Given the description of an element on the screen output the (x, y) to click on. 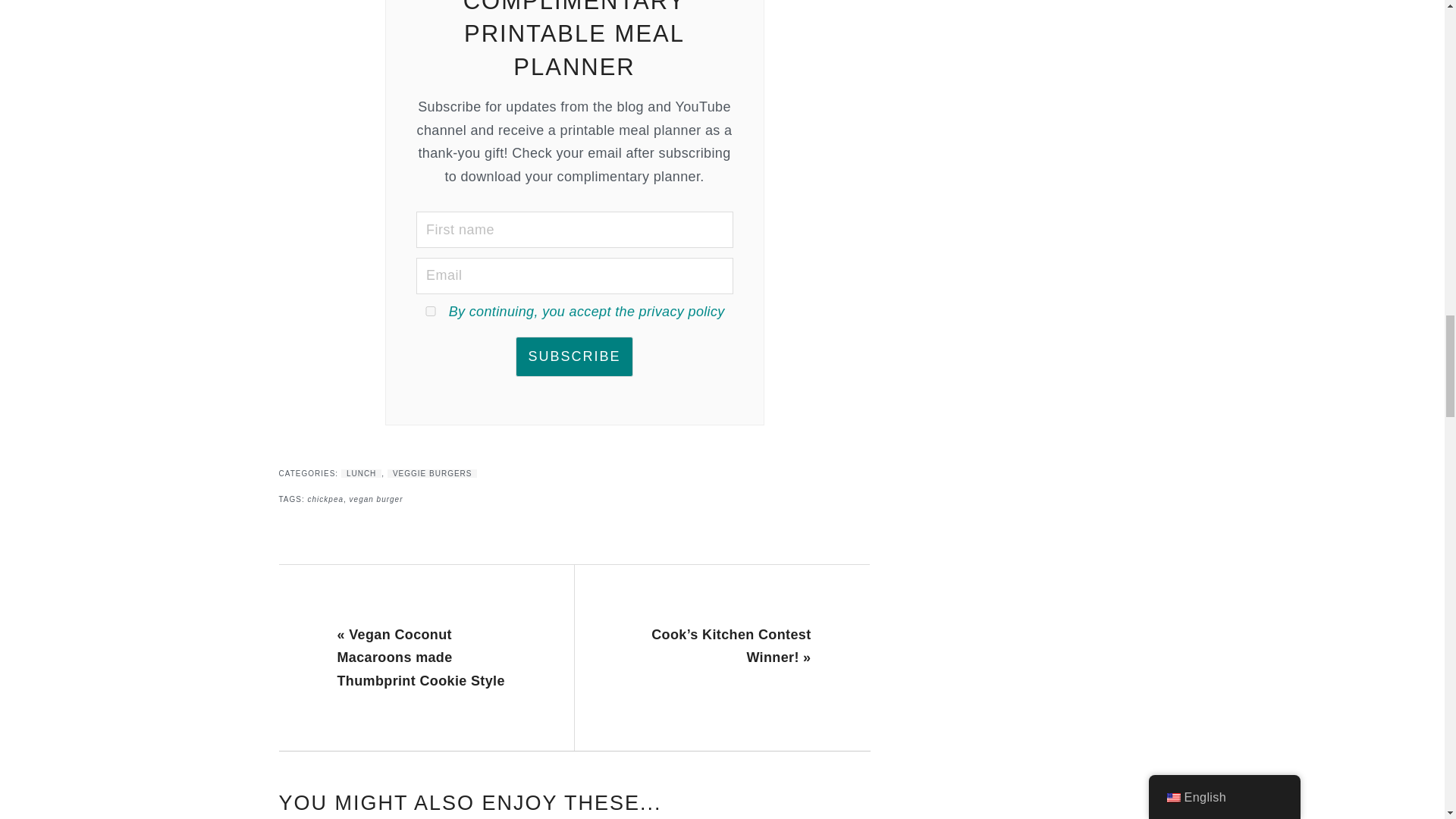
By continuing, you accept the privacy policy (586, 311)
LUNCH (360, 473)
Subscribe (573, 356)
VEGGIE BURGERS (432, 473)
Subscribe (573, 356)
on (430, 311)
